Given the description of an element on the screen output the (x, y) to click on. 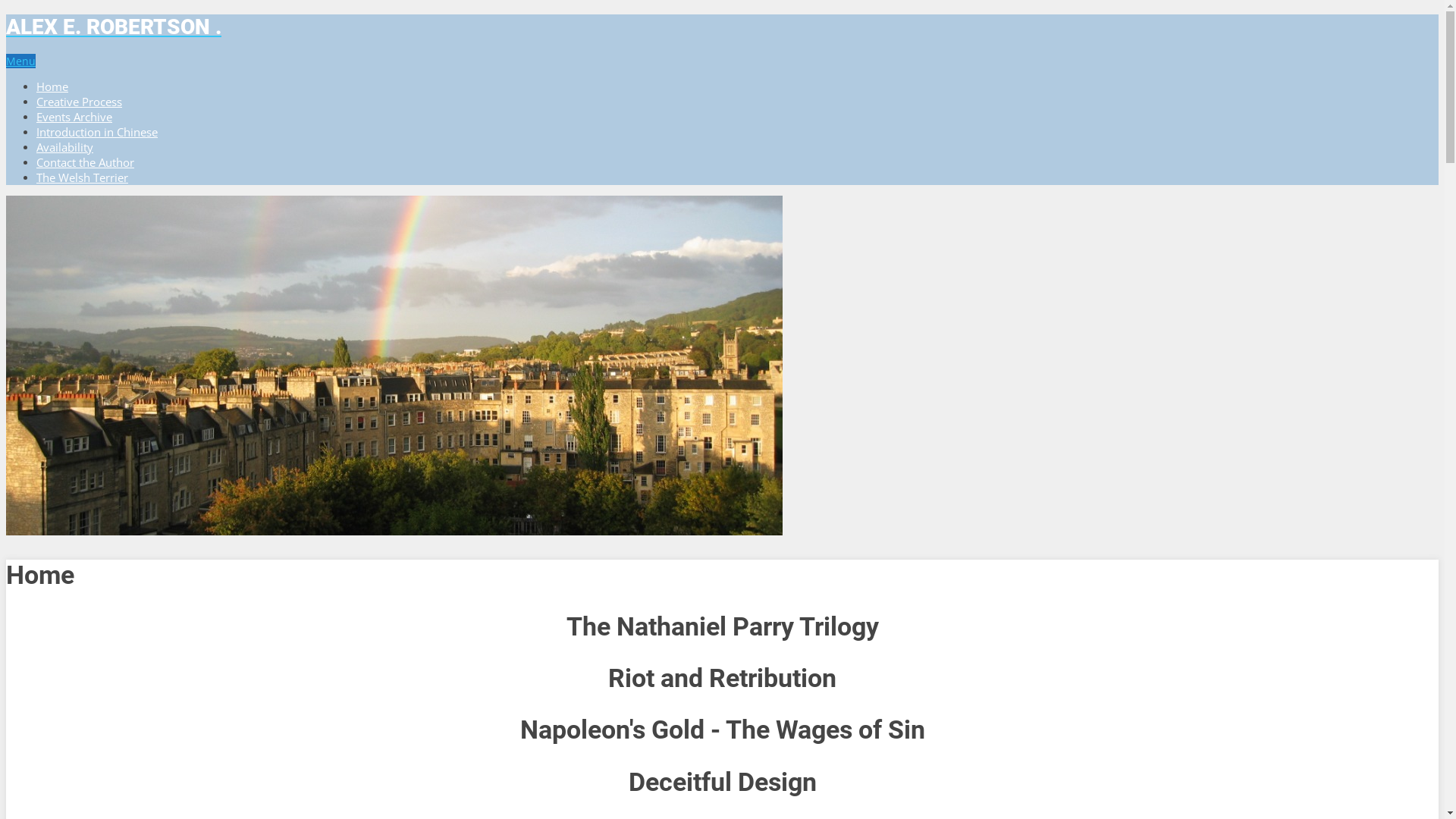
Contact the Author Element type: text (85, 161)
Events Archive Element type: text (74, 116)
Creative Process Element type: text (79, 101)
Availability Element type: text (64, 146)
ALEX E. ROBERTSON . Element type: text (722, 26)
Introduction in Chinese Element type: text (96, 131)
#slidecaption1 Element type: hover (394, 365)
Menu Element type: text (20, 60)
Home Element type: text (52, 86)
The Welsh Terrier Element type: text (82, 177)
